Given the description of an element on the screen output the (x, y) to click on. 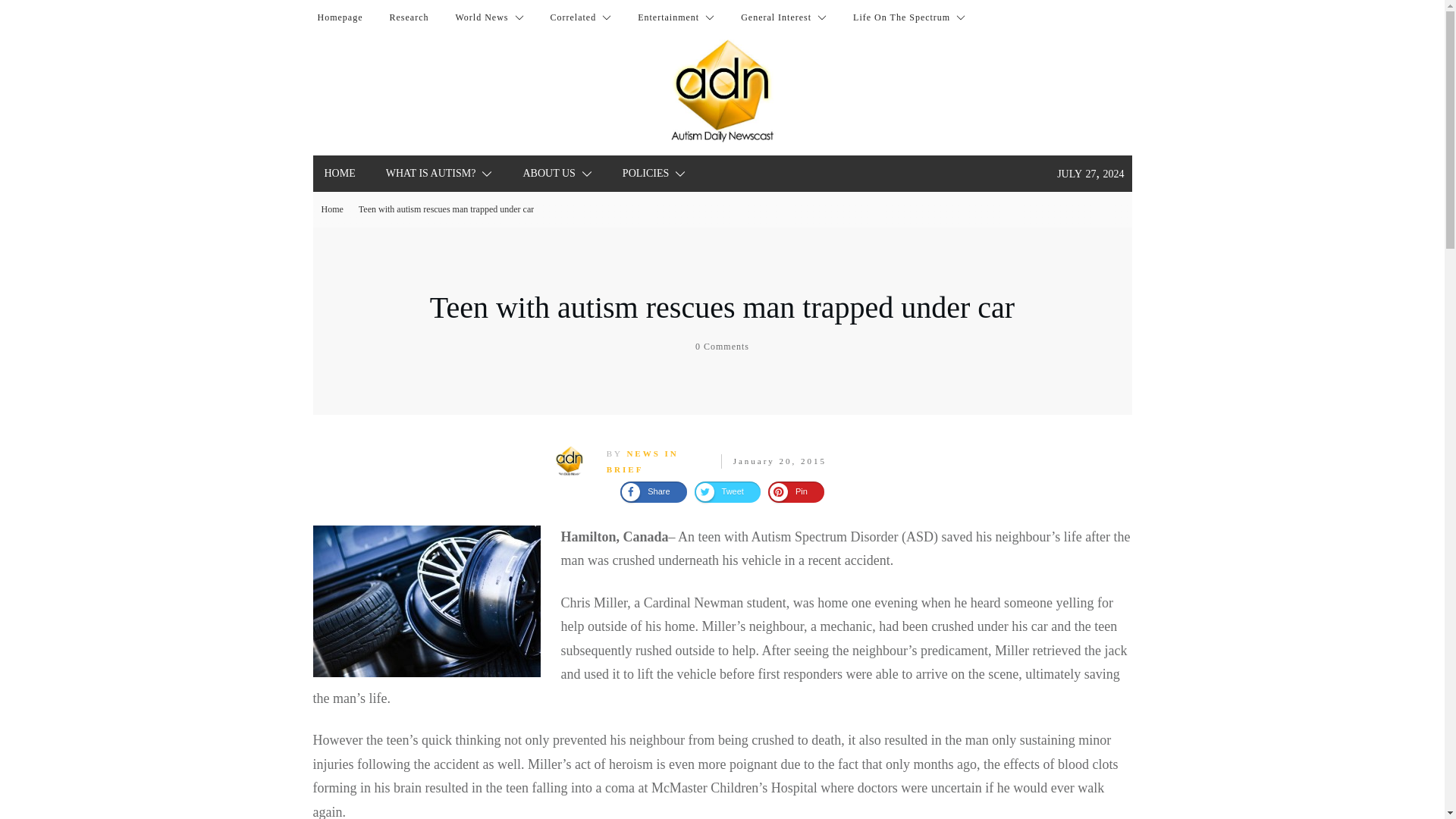
Life On The Spectrum (909, 17)
Correlated (580, 17)
Teen with autism rescues man trapped under car (721, 307)
Homepage (339, 17)
Research (408, 17)
Entertainment (675, 17)
Home (339, 17)
Home (339, 173)
General Interest (784, 17)
World News (488, 17)
